Given the description of an element on the screen output the (x, y) to click on. 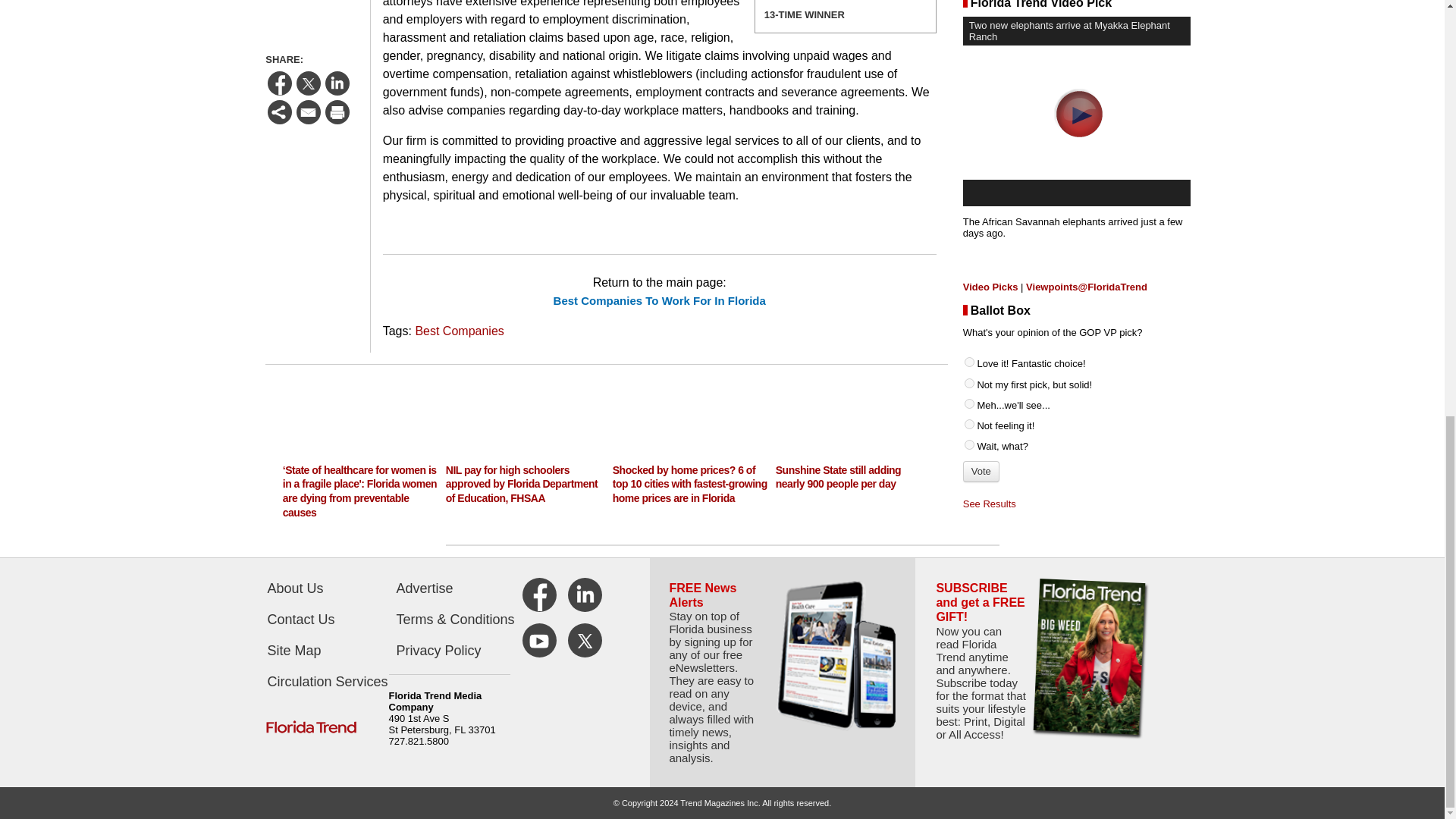
4066 (968, 254)
4068 (968, 296)
4067 (968, 275)
4069 (968, 316)
4070 (968, 337)
